Given the description of an element on the screen output the (x, y) to click on. 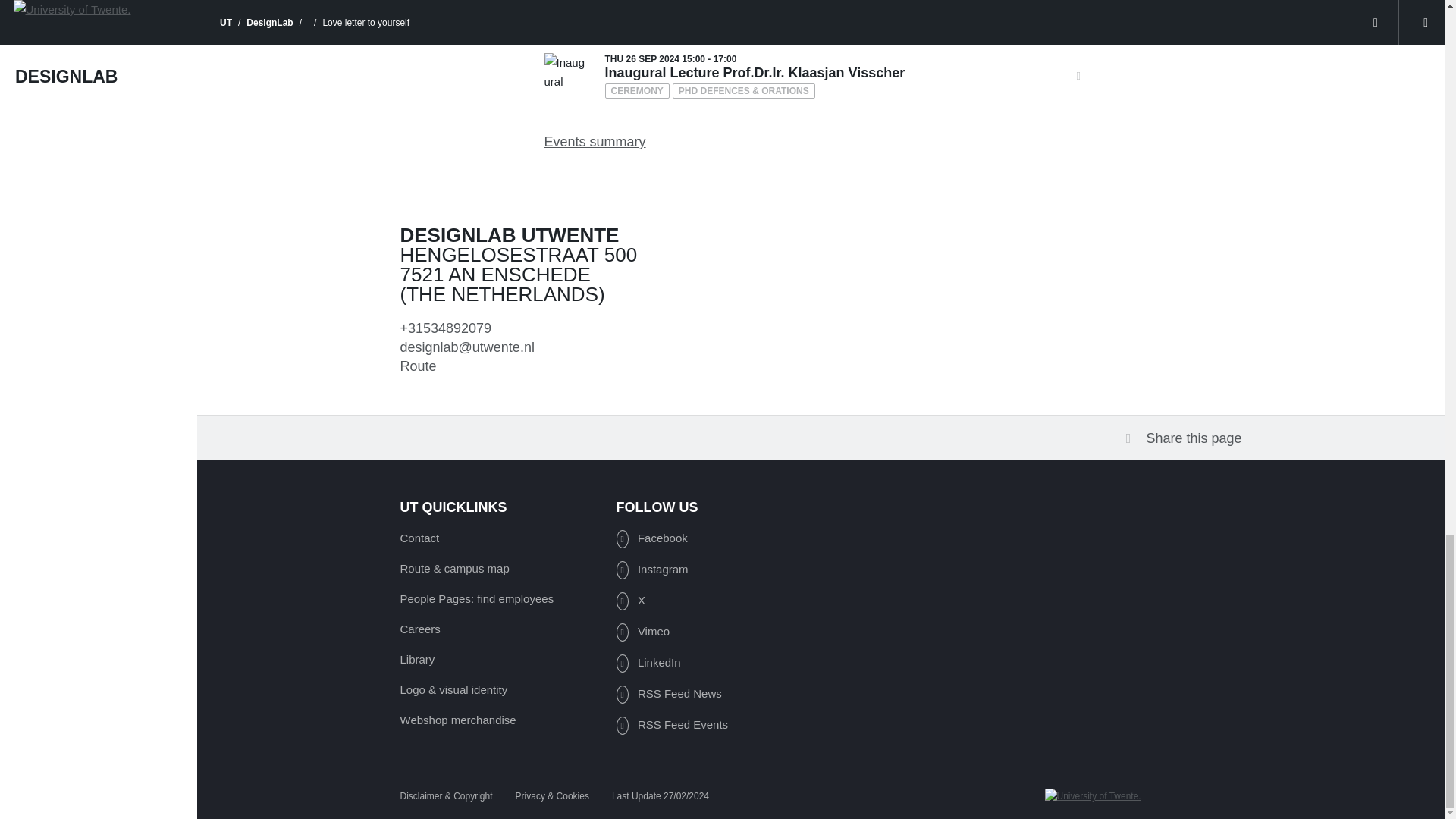
LinkedIn (647, 662)
Events summary (820, 132)
Library (417, 659)
RSS Feed Events (671, 724)
Careers (420, 628)
Share this page (1183, 437)
Facebook (651, 537)
X (630, 600)
RSS Feed News (667, 693)
Vimeo (642, 631)
